Given the description of an element on the screen output the (x, y) to click on. 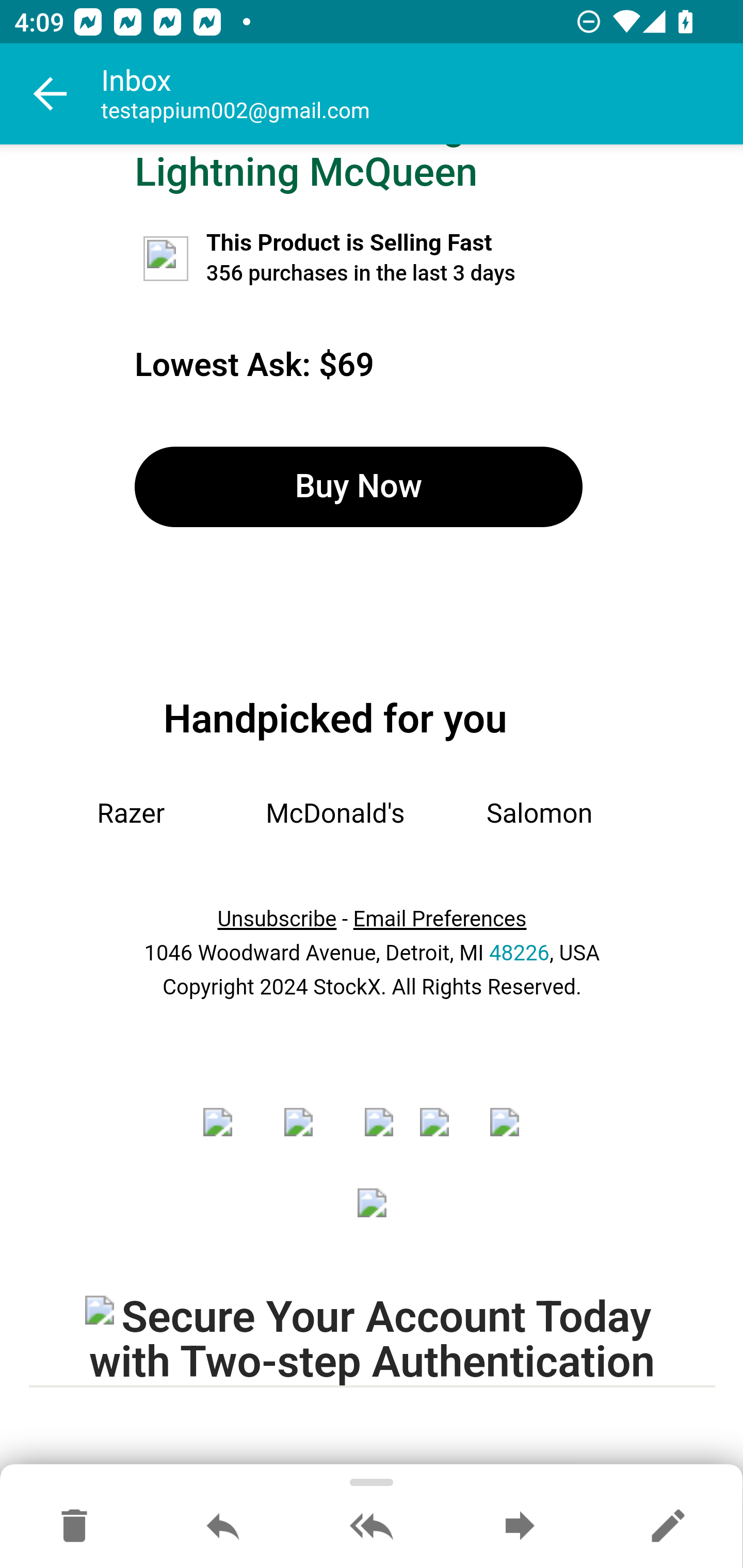
Navigate up (50, 93)
Inbox testappium002@gmail.com (422, 93)
Crocs Classic Clog Lightning McQueen (305, 170)
Buy Now (357, 487)
Handpicked for you (334, 718)
Unsubscribe (276, 919)
Email Preferences (439, 919)
48226 (518, 953)
facebook (229, 1135)
twitter (311, 1135)
instagram (378, 1135)
YouTube (441, 1135)
Discord (511, 1135)
App Store (372, 1215)
Move to Deleted (74, 1527)
Reply (222, 1527)
Reply all (371, 1527)
Forward (519, 1527)
Reply as new (667, 1527)
